Given the description of an element on the screen output the (x, y) to click on. 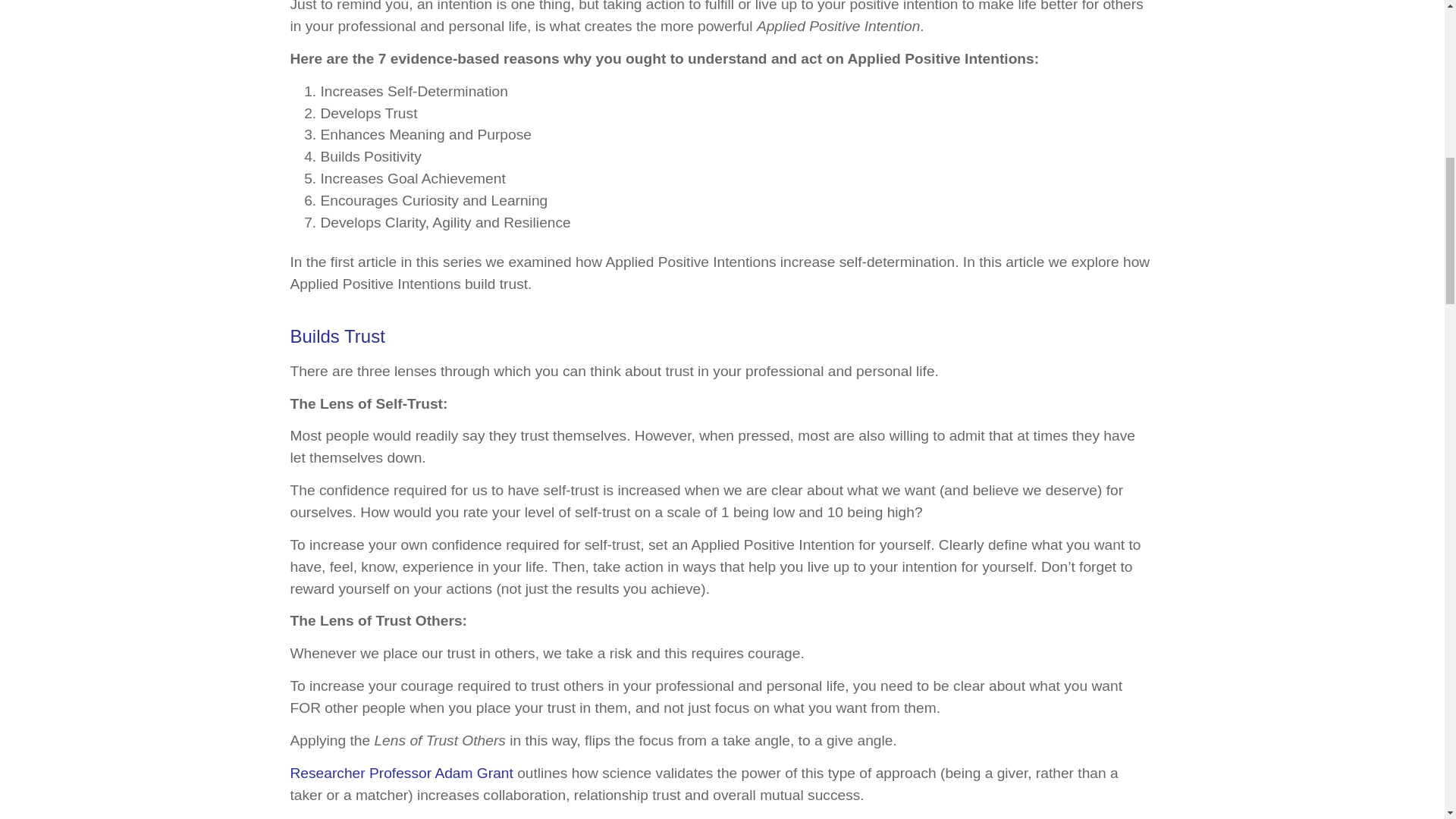
Researcher Professor Adam Grant (400, 772)
